Given the description of an element on the screen output the (x, y) to click on. 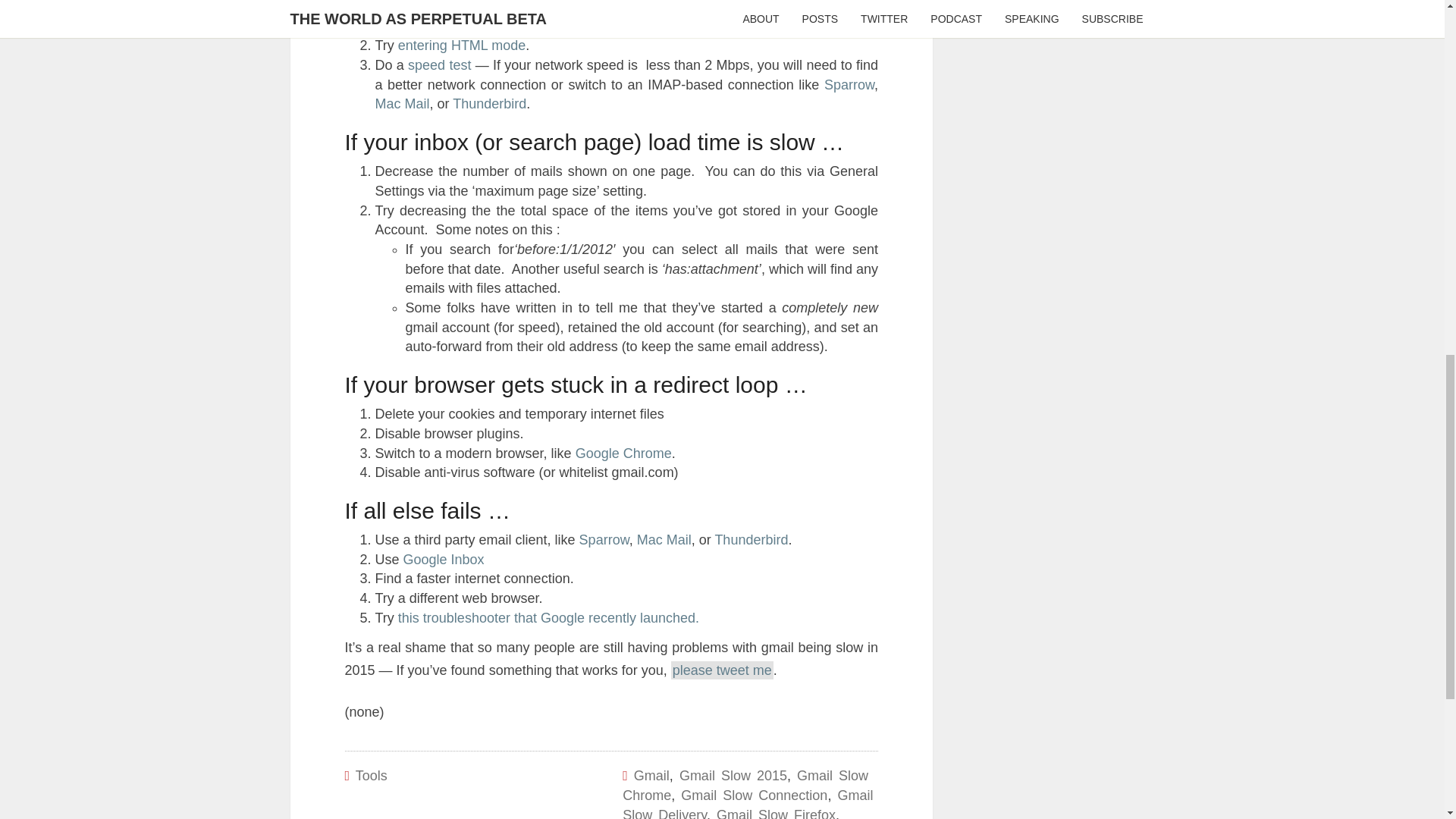
please tweet me (722, 669)
Thunderbird (488, 103)
Gmail (651, 775)
Google Chrome (623, 453)
Gmail Slow Delivery (747, 803)
Mac Mail (664, 539)
entering HTML mode (461, 45)
5GHz network (526, 26)
Sparrow (603, 539)
this troubleshooter that Google recently launched. (547, 617)
Gmail Slow Connection (754, 795)
Tools (371, 775)
Google Inbox (443, 559)
Mac Mail (401, 103)
Gmail Slow 2015 (733, 775)
